Given the description of an element on the screen output the (x, y) to click on. 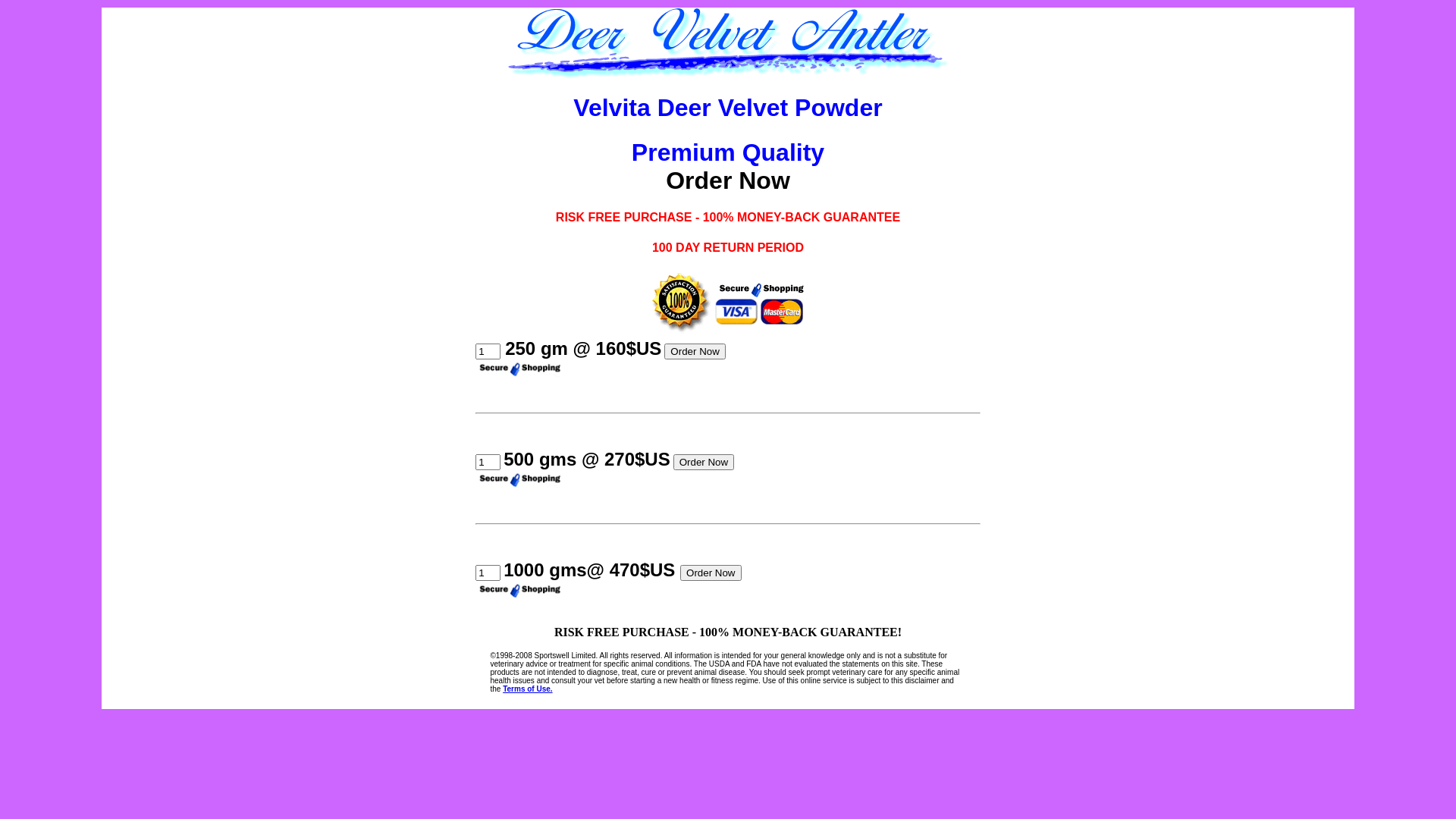
Terms of Use. Element type: text (527, 688)
